Given the description of an element on the screen output the (x, y) to click on. 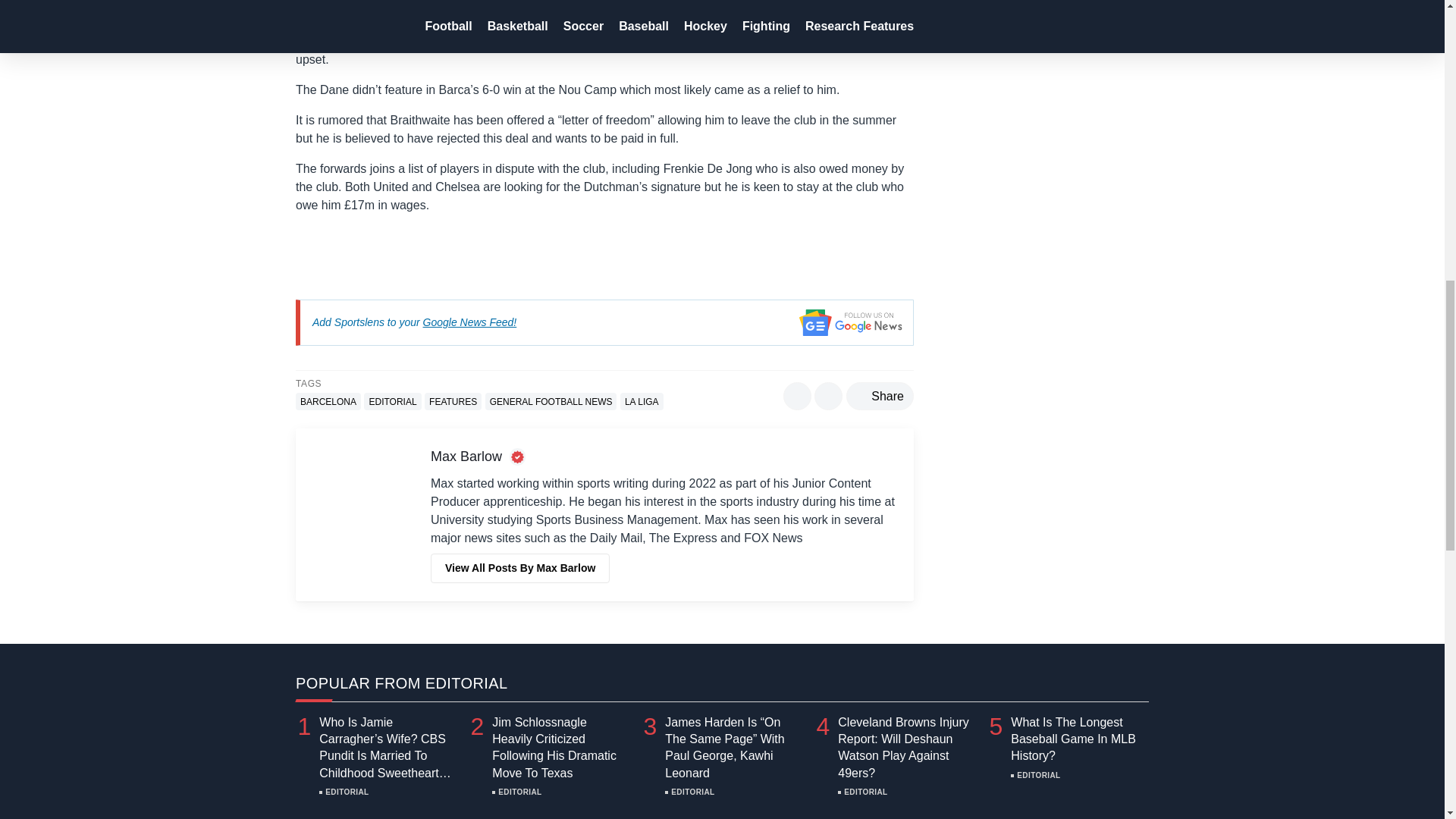
Google News Feed! (469, 322)
FEATURES (453, 401)
View All Posts By Max Barlow (520, 568)
Share (879, 396)
GENERAL FOOTBALL NEWS (550, 401)
LA LIGA (641, 401)
EDITORIAL (392, 401)
BARCELONA (328, 401)
